Given the description of an element on the screen output the (x, y) to click on. 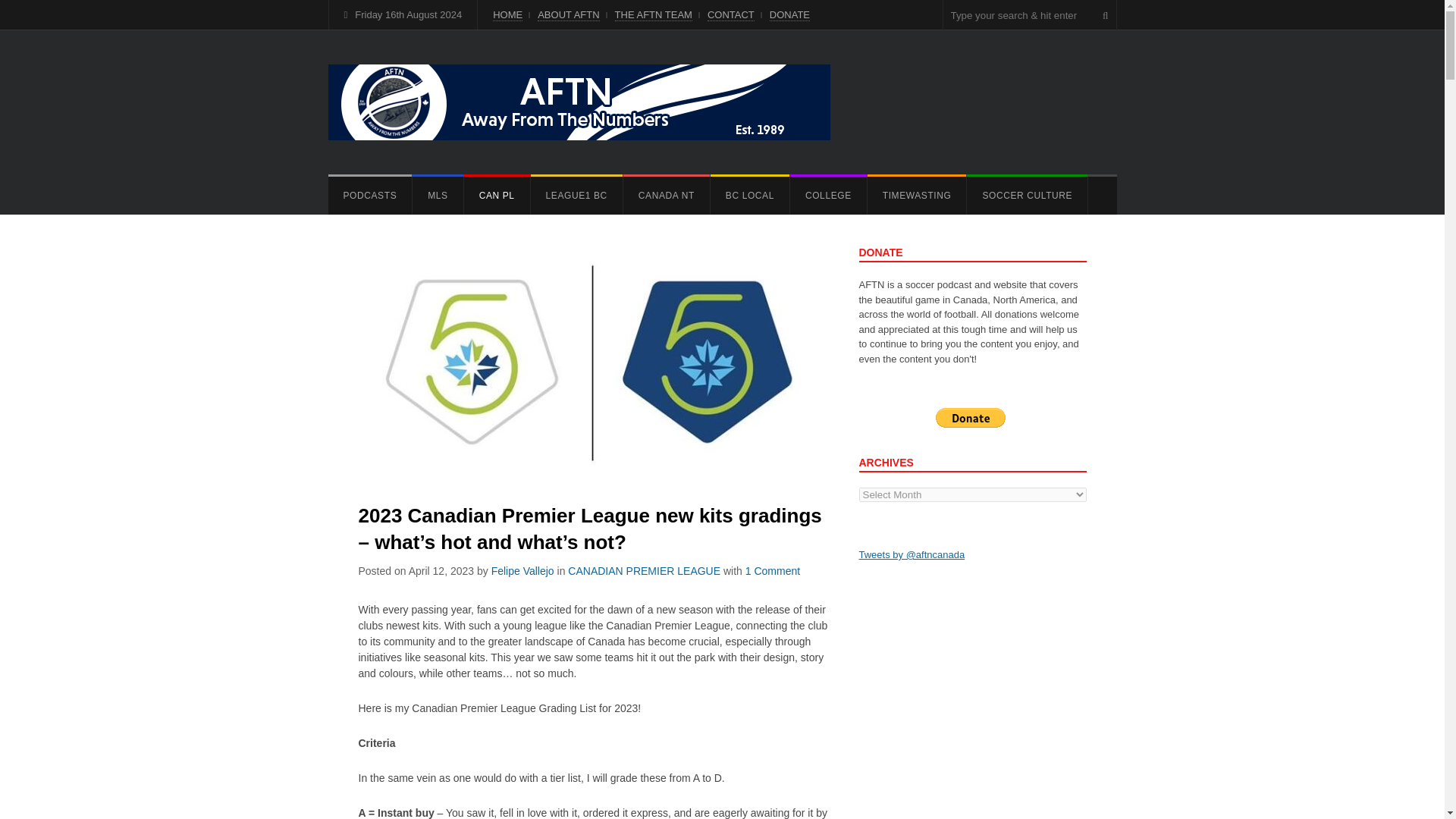
THE AFTN TEAM (653, 15)
BC LOCAL (749, 195)
LEAGUE1 BC (577, 195)
CONTACT (730, 15)
PODCASTS (369, 195)
CANADA NT (666, 195)
DONATE (789, 15)
Posts by Felipe Vallejo (523, 571)
AFTN (578, 102)
MLS (437, 195)
